Given the description of an element on the screen output the (x, y) to click on. 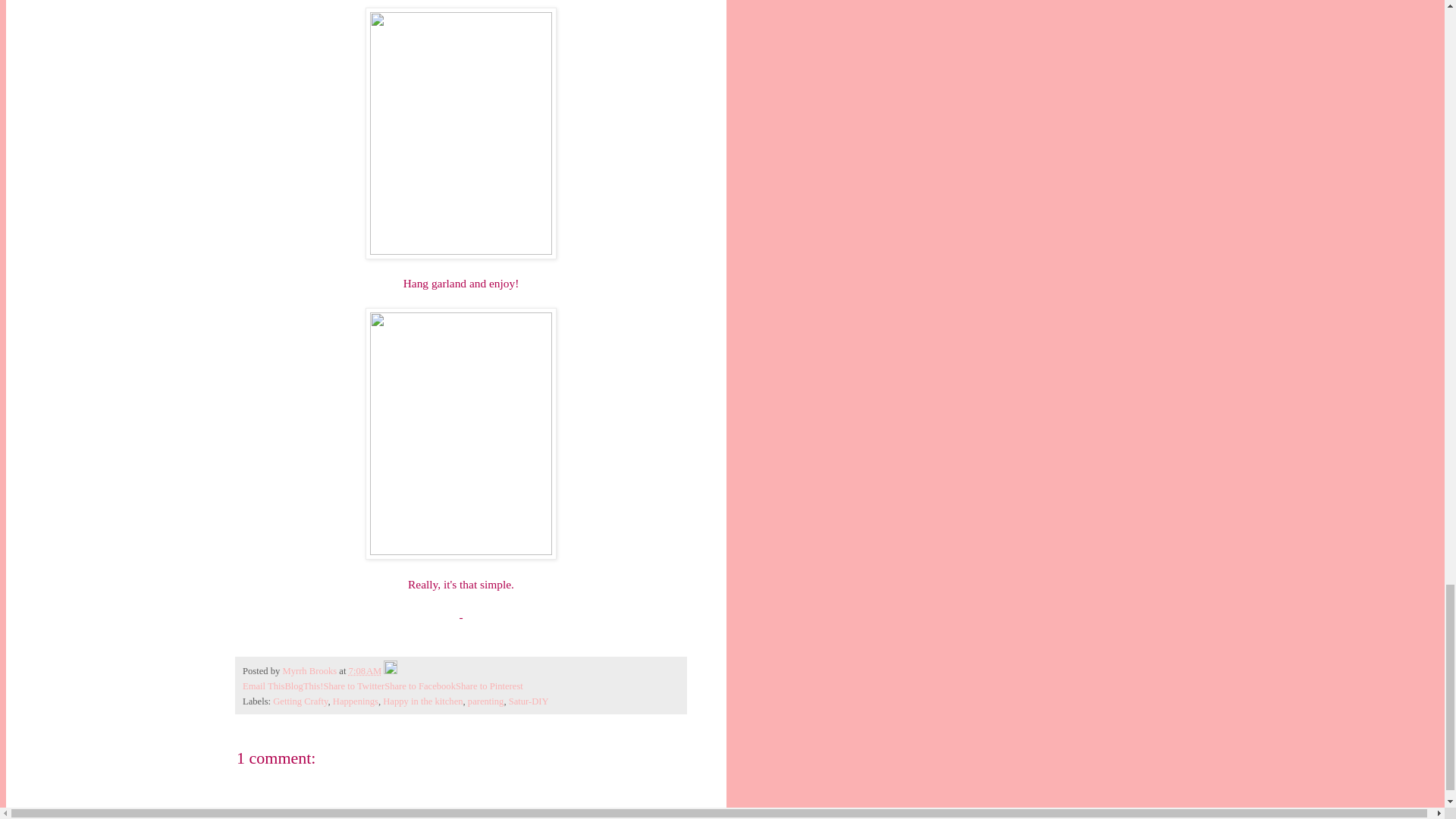
parenting (485, 701)
Share to Facebook (419, 685)
Happenings (355, 701)
Email This (263, 685)
BlogThis! (303, 685)
Share to Twitter (353, 685)
Share to Twitter (353, 685)
Getting Crafty (300, 701)
author profile (310, 670)
Myrrh Brooks (310, 670)
